Given the description of an element on the screen output the (x, y) to click on. 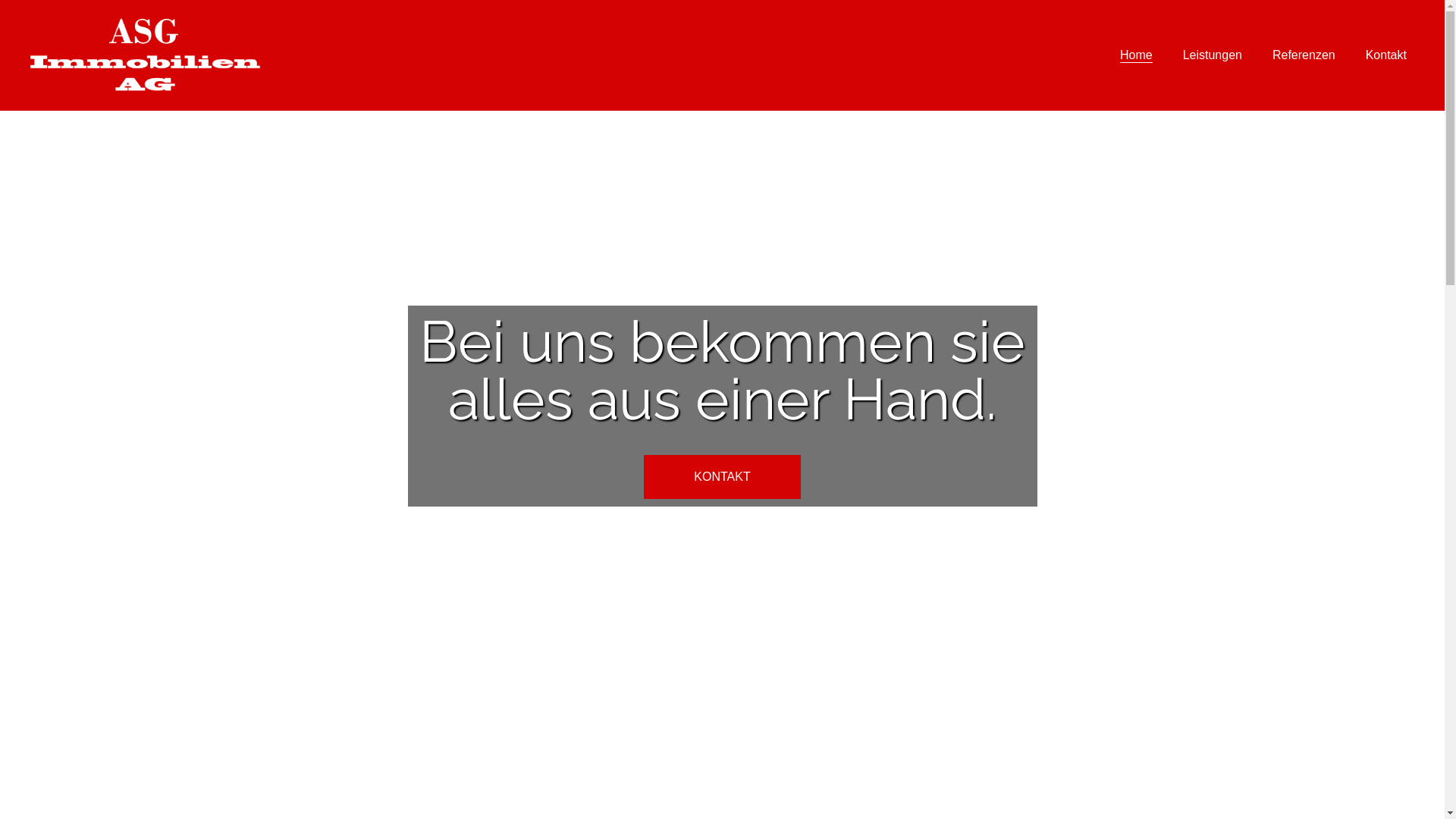
Referenzen Element type: text (1303, 54)
Leistungen Element type: text (1212, 54)
Kontakt Element type: text (1385, 54)
Home Element type: text (1136, 54)
KONTAKT Element type: text (721, 476)
